Given the description of an element on the screen output the (x, y) to click on. 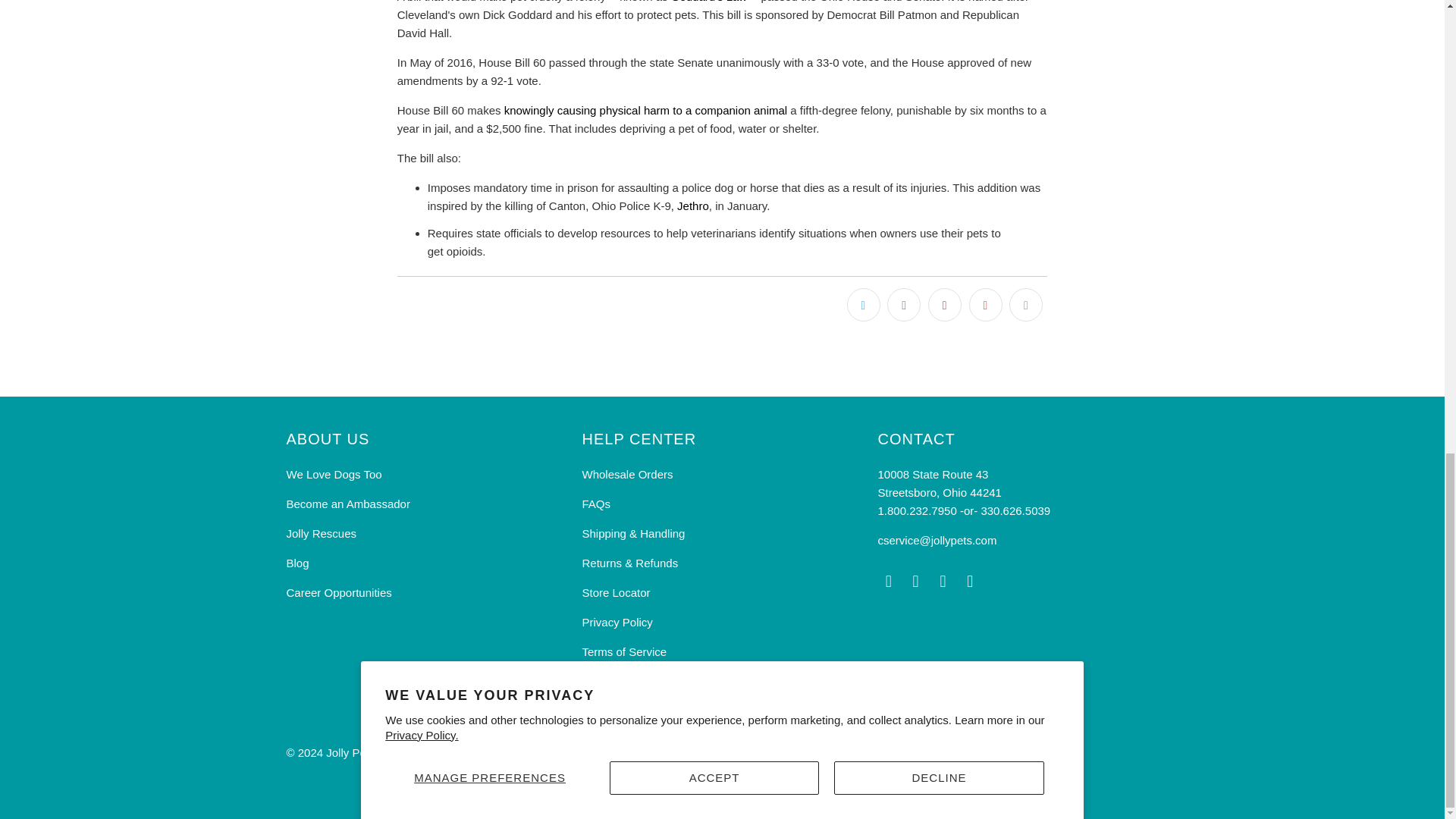
The Ohio House of Representatives Goddard's Law Overview (708, 1)
Share this on Twitter (863, 304)
Share this on Pinterest (944, 304)
Officer Down Memorial: K9 Jethro (693, 205)
Share this on Facebook (903, 304)
How to Spot Animal Cruelty and What Actions to Take (645, 110)
